Given the description of an element on the screen output the (x, y) to click on. 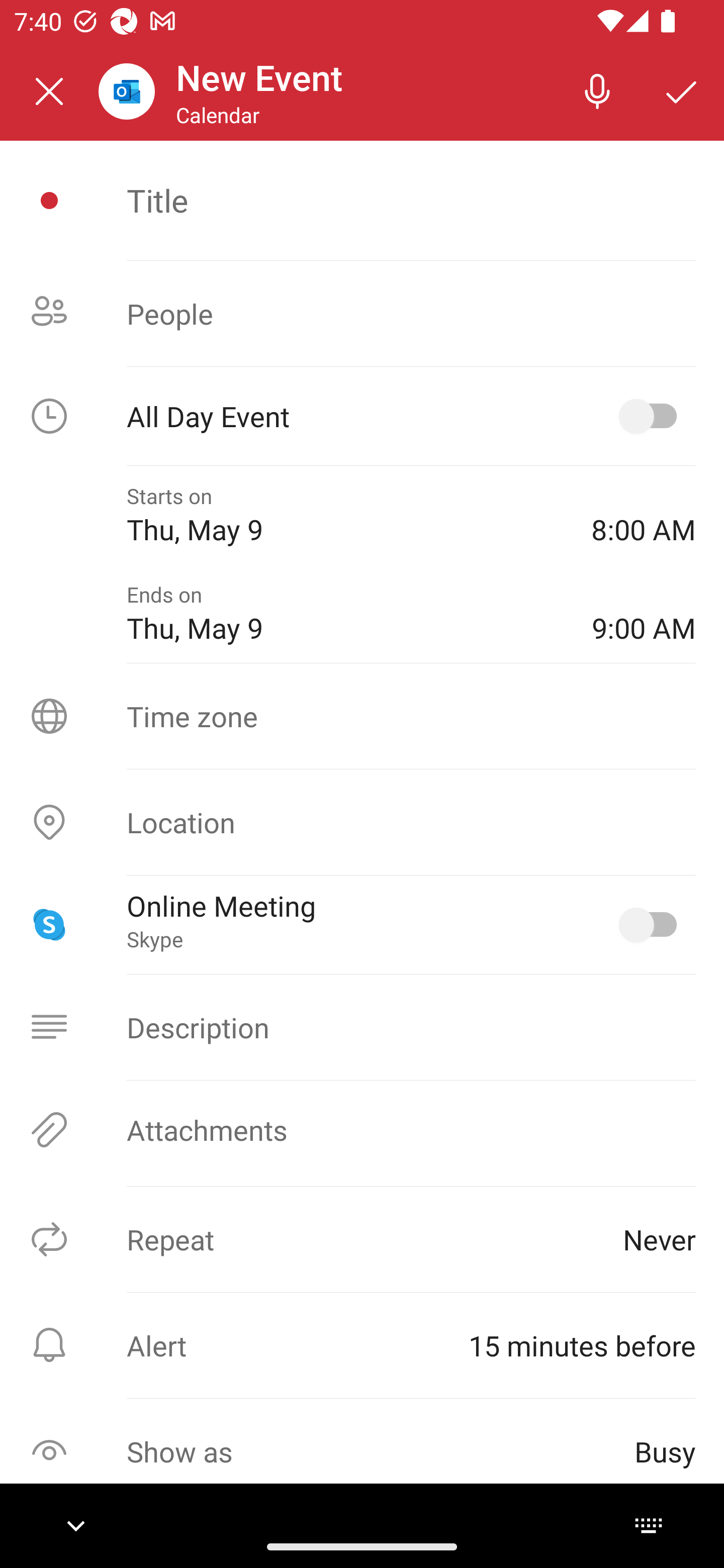
Close (49, 91)
Save (681, 90)
Title (410, 200)
Event icon picker (48, 200)
People (362, 313)
All Day Event (362, 415)
Starts on Thu, May 9 (344, 514)
8:00 AM (643, 514)
Ends on Thu, May 9 (344, 613)
9:00 AM (643, 613)
Time zone (362, 715)
Location (362, 821)
Online Meeting, Skype selected (651, 923)
Description (362, 1026)
Attachments (362, 1129)
Repeat Never (362, 1239)
Alert ⁨15 minutes before (362, 1345)
Show as Busy (362, 1450)
